Given the description of an element on the screen output the (x, y) to click on. 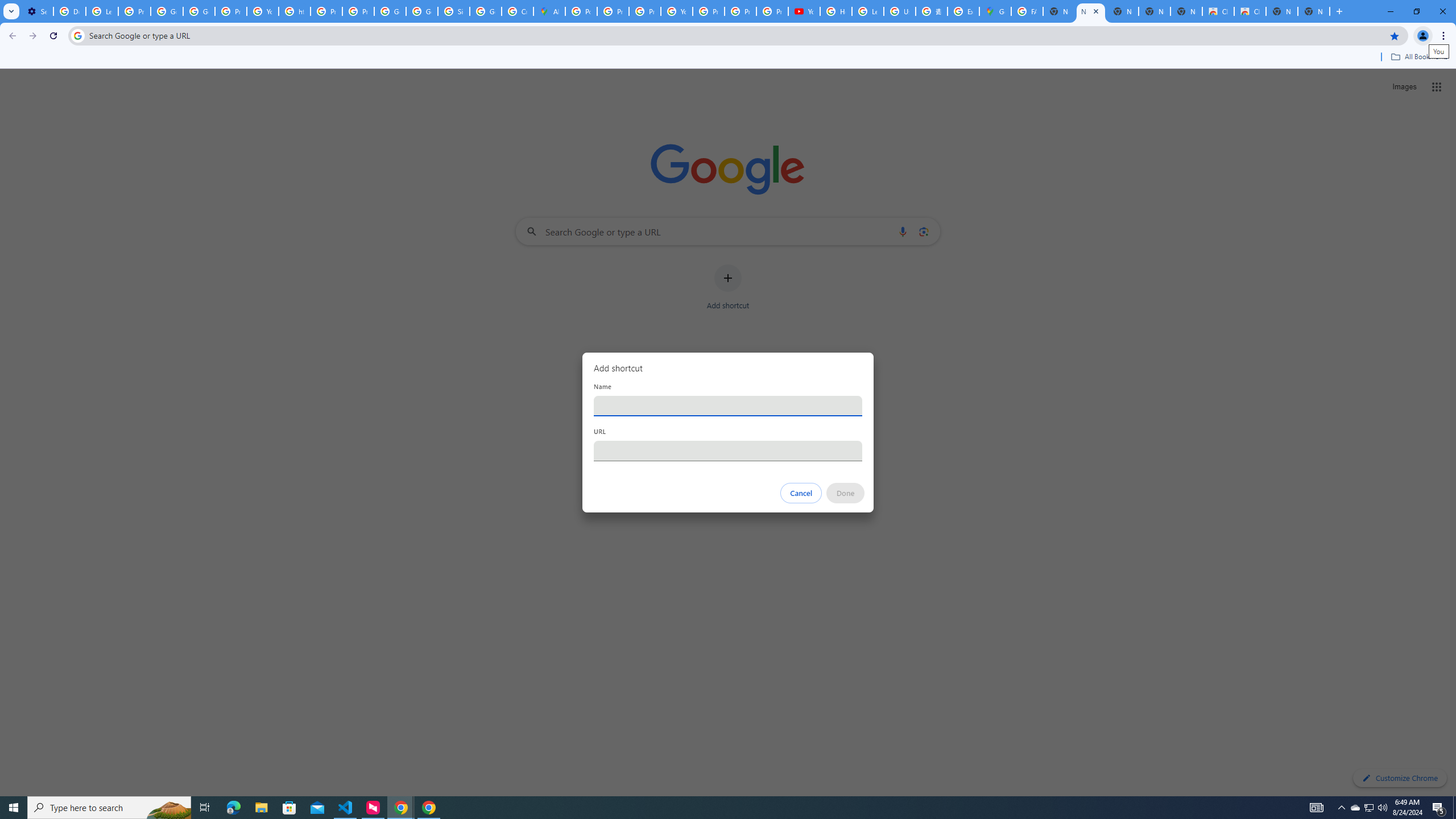
YouTube (262, 11)
Google Maps (995, 11)
URL (727, 450)
Done (845, 493)
Classic Blue - Chrome Web Store (1217, 11)
